Given the description of an element on the screen output the (x, y) to click on. 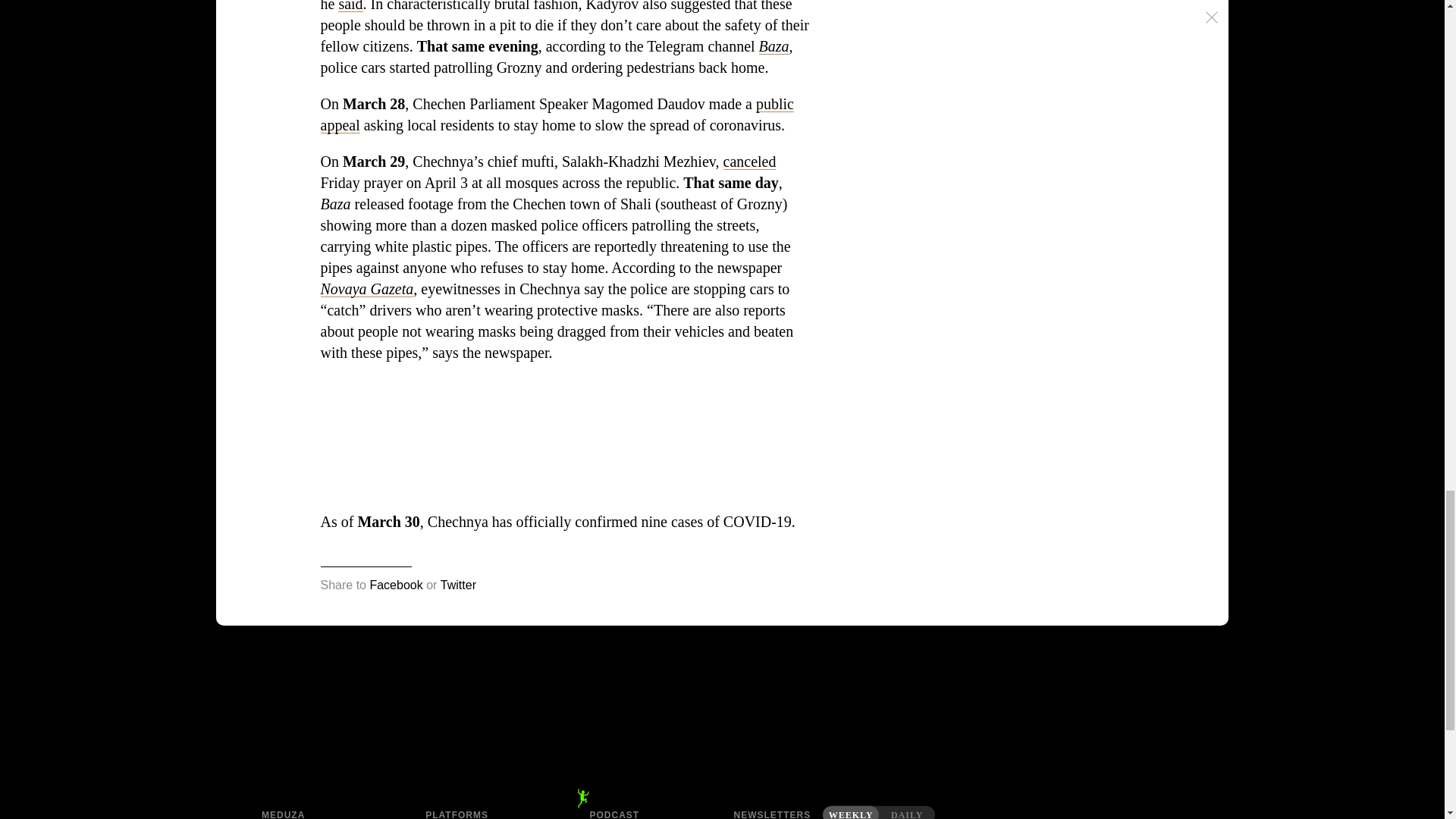
public appeal (556, 114)
Novaya Gazeta (366, 288)
Baza (773, 45)
canceled (749, 161)
Twitter (458, 585)
said (349, 6)
Facebook (395, 585)
